Given the description of an element on the screen output the (x, y) to click on. 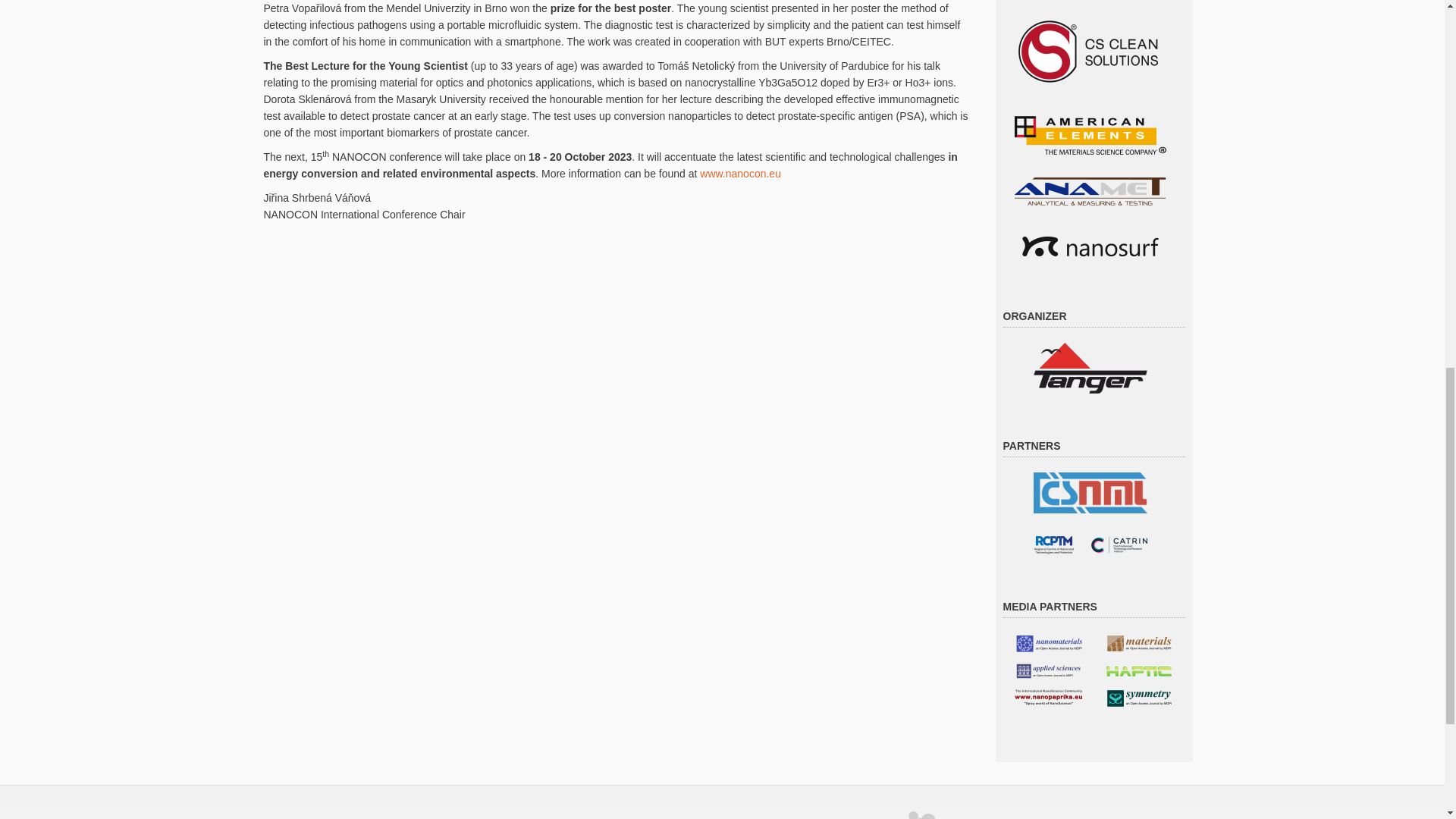
CS CLEAN SOLUTIONS GmbH (1090, 50)
ANAMET s.r.o. (1090, 190)
Nanosurf GmbH (1090, 244)
TANGER, Ltd. (1089, 367)
